Given the description of an element on the screen output the (x, y) to click on. 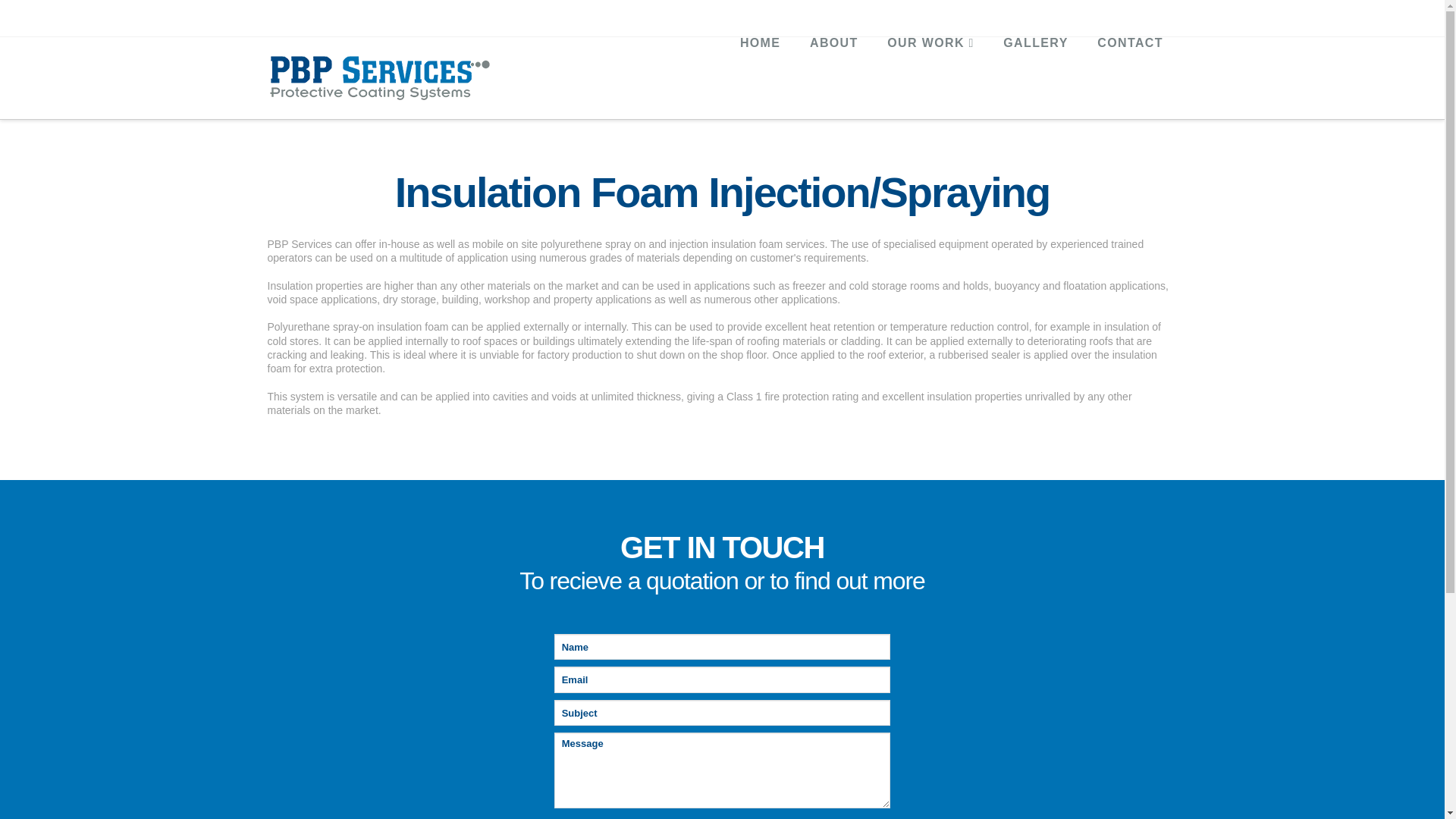
CONTACT (1128, 70)
OUR WORK (930, 70)
ABOUT (833, 70)
GALLERY (1034, 70)
HOME (759, 70)
